Given the description of an element on the screen output the (x, y) to click on. 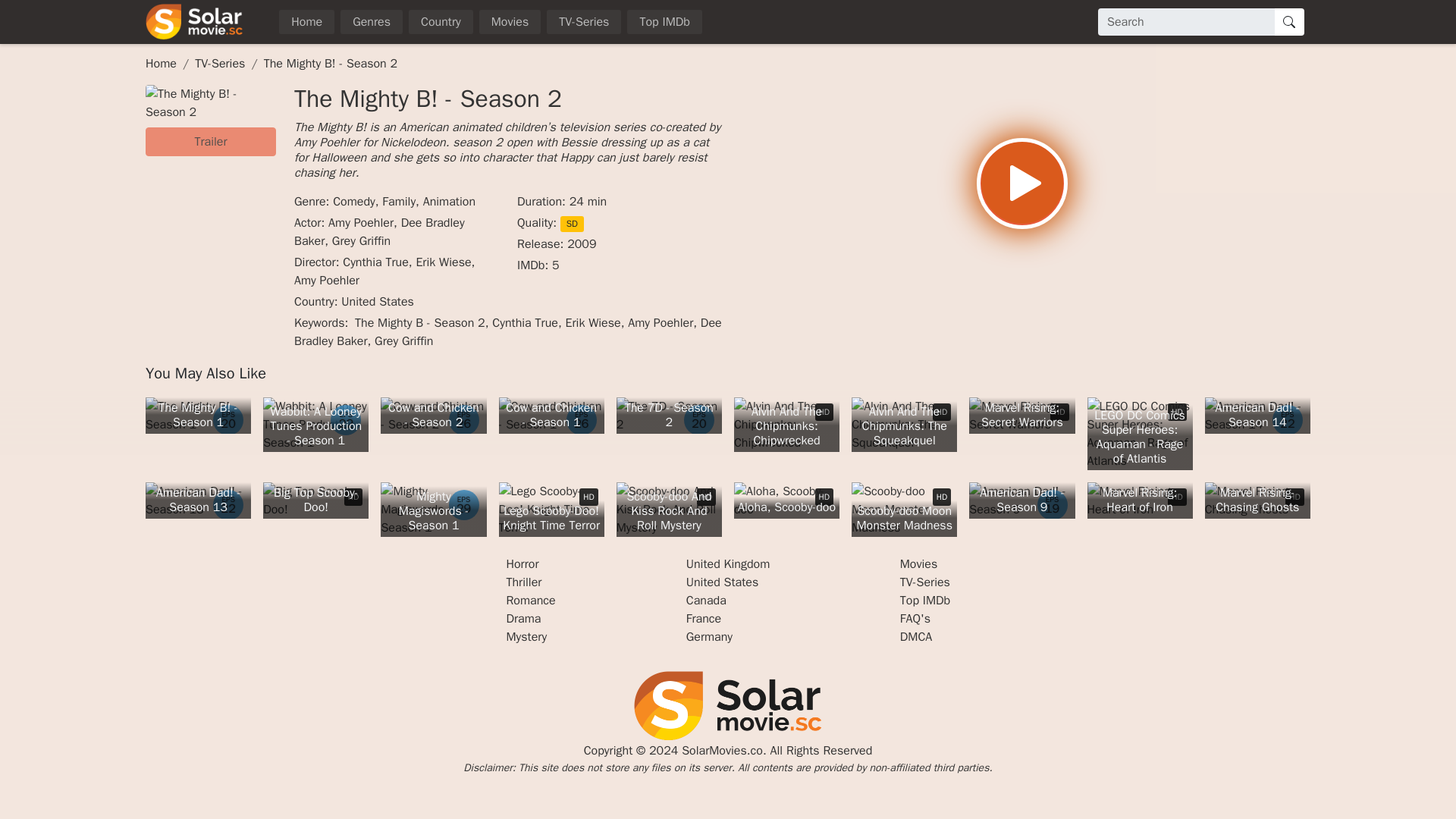
Genres (371, 21)
Home (306, 21)
